Given the description of an element on the screen output the (x, y) to click on. 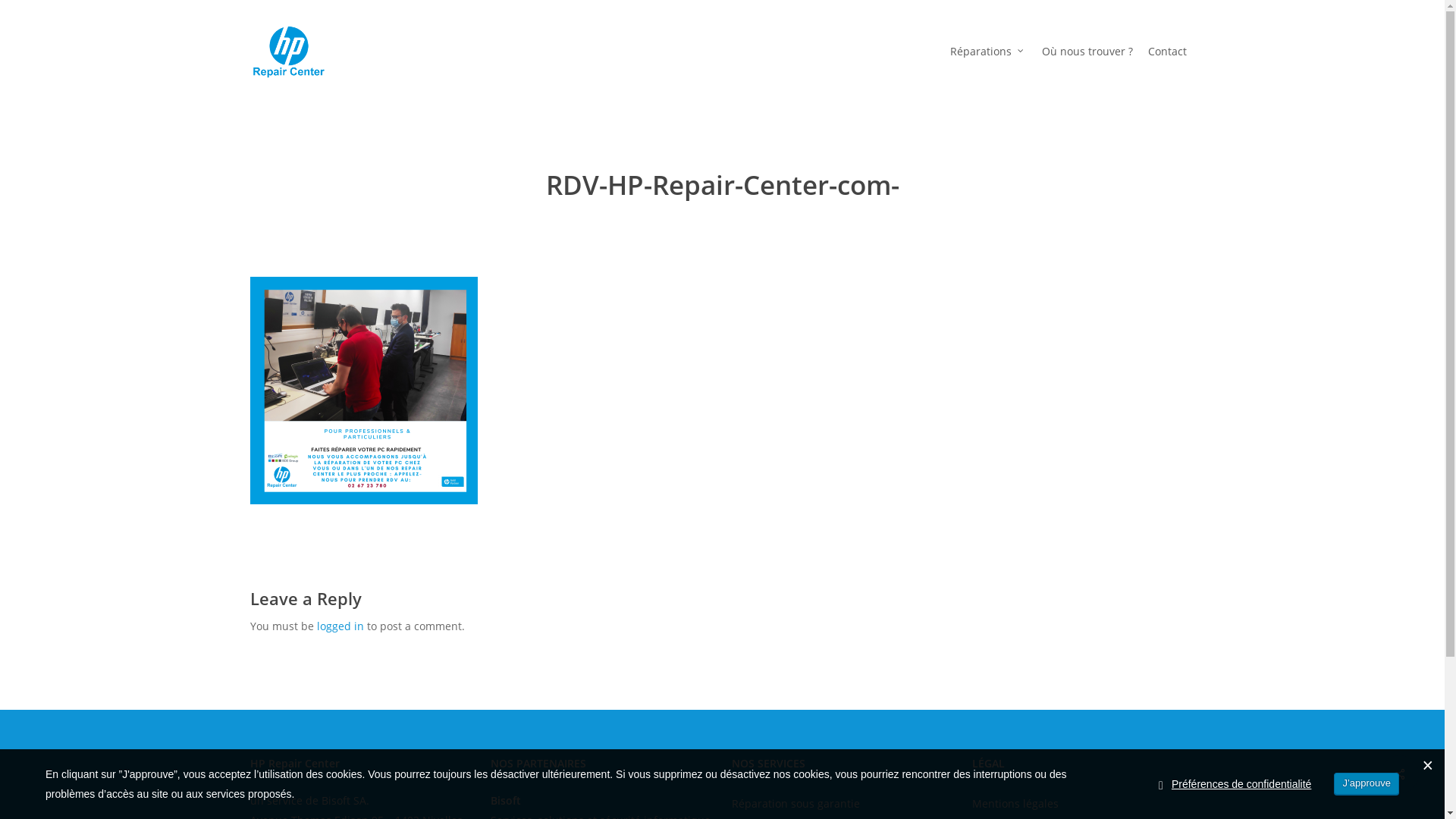
Contact Element type: text (1167, 51)
logged in Element type: text (340, 625)
Bisoft Element type: text (505, 800)
